Given the description of an element on the screen output the (x, y) to click on. 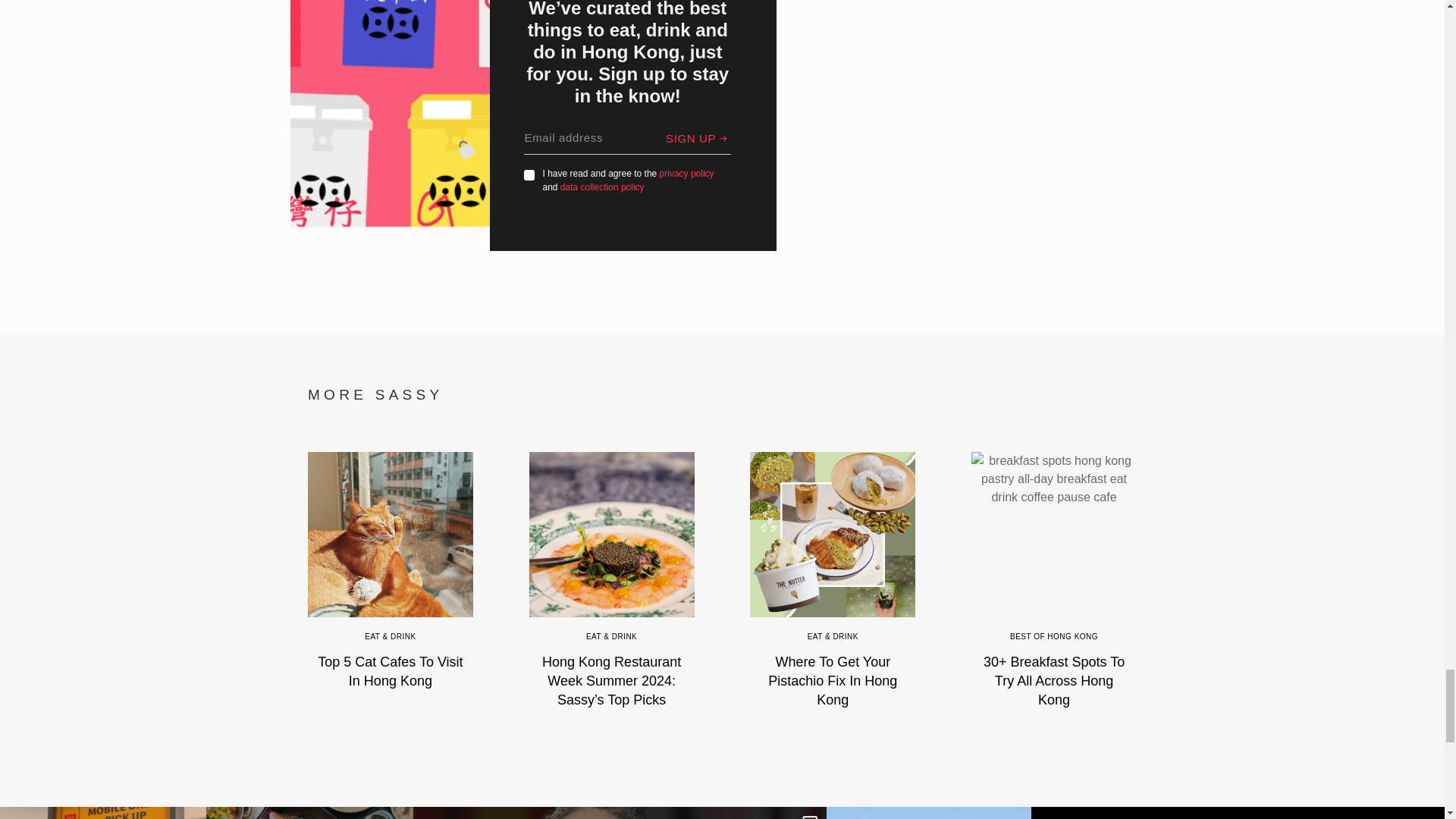
on (529, 174)
Sign Up (697, 138)
